Given the description of an element on the screen output the (x, y) to click on. 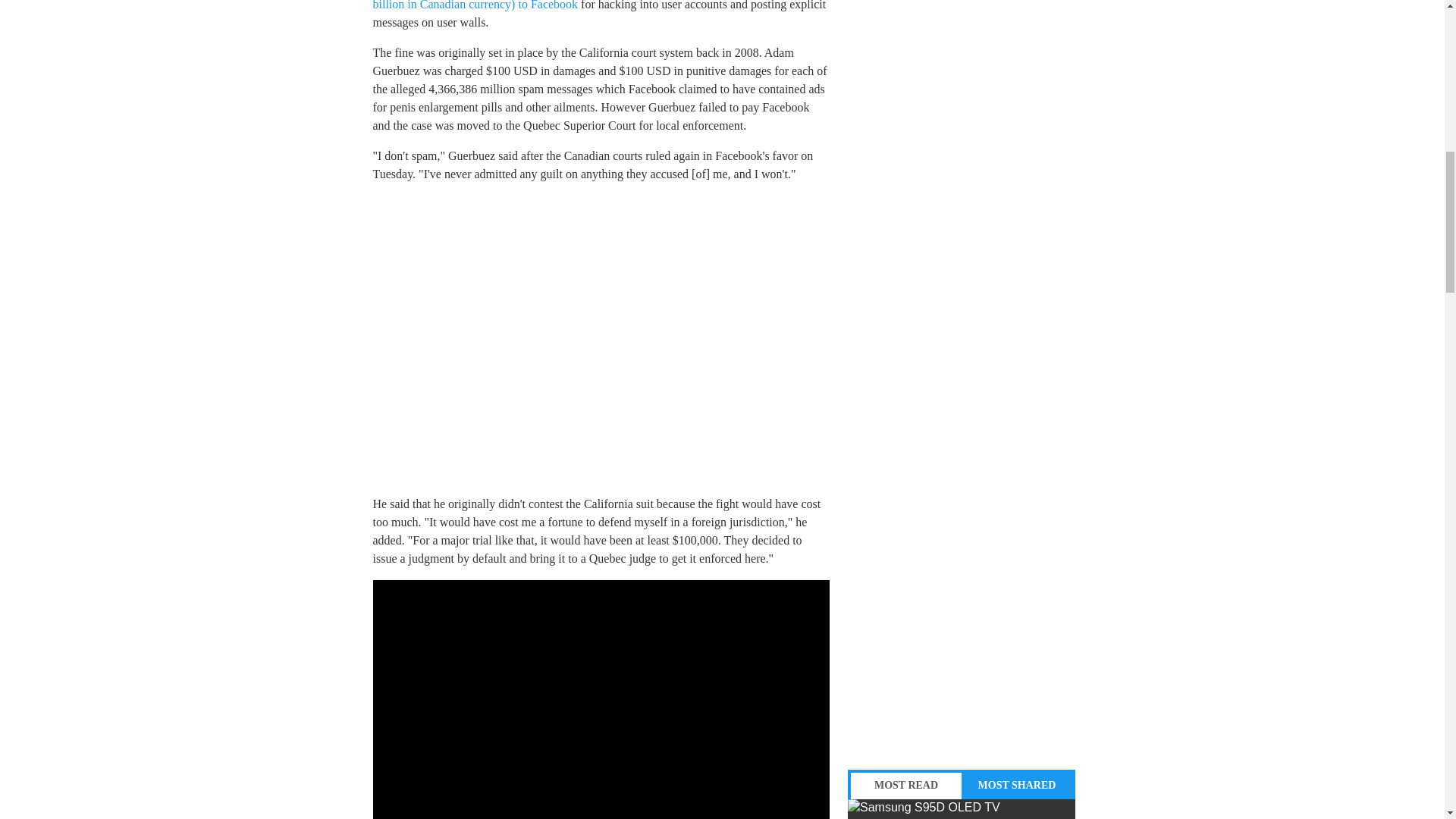
Samsung S95D OLED review: This glare-free OLED TV is legit (961, 809)
